Given the description of an element on the screen output the (x, y) to click on. 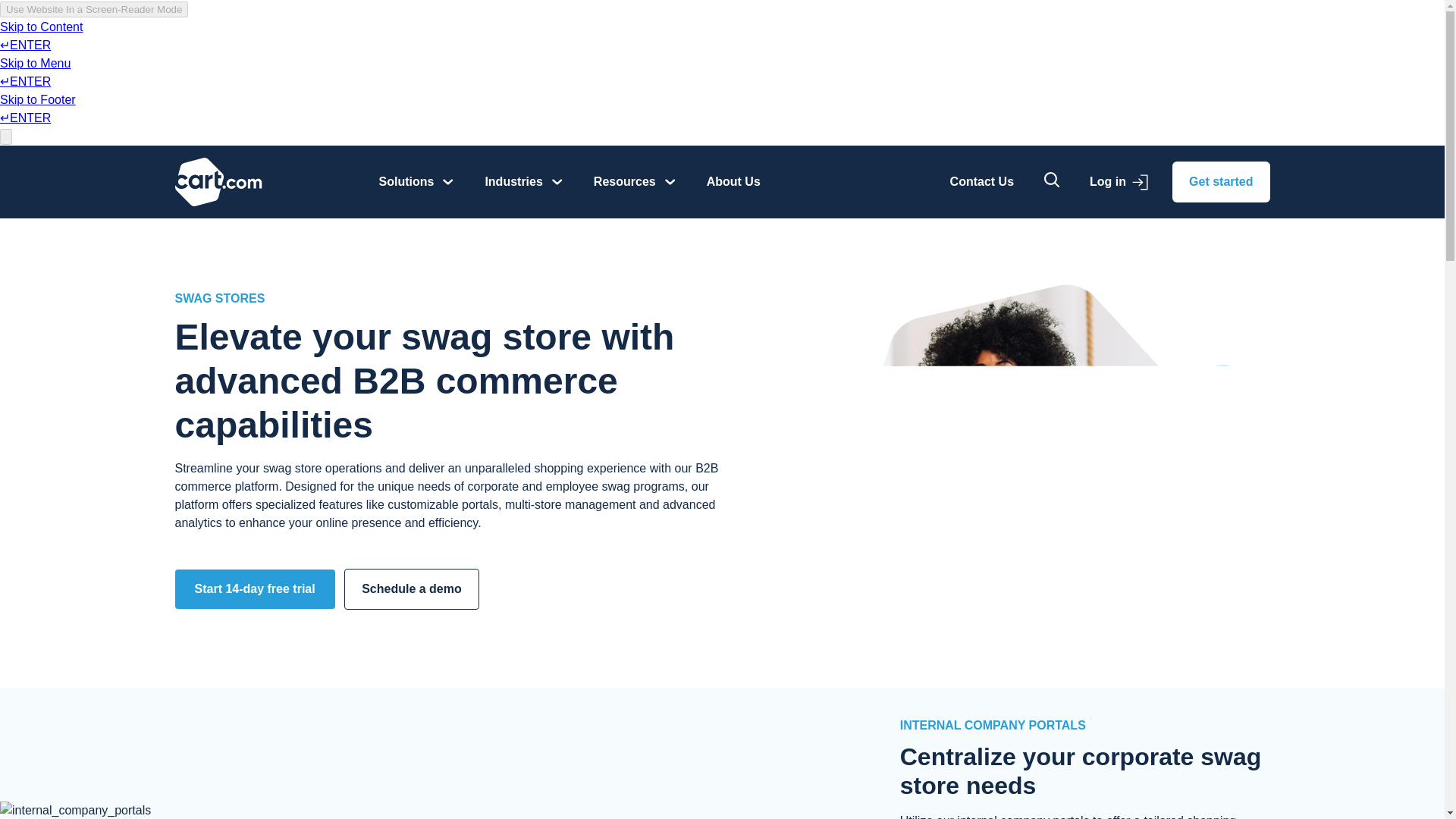
Solutions (416, 182)
Resources (634, 182)
Cart.com (218, 181)
Industries (523, 182)
